Given the description of an element on the screen output the (x, y) to click on. 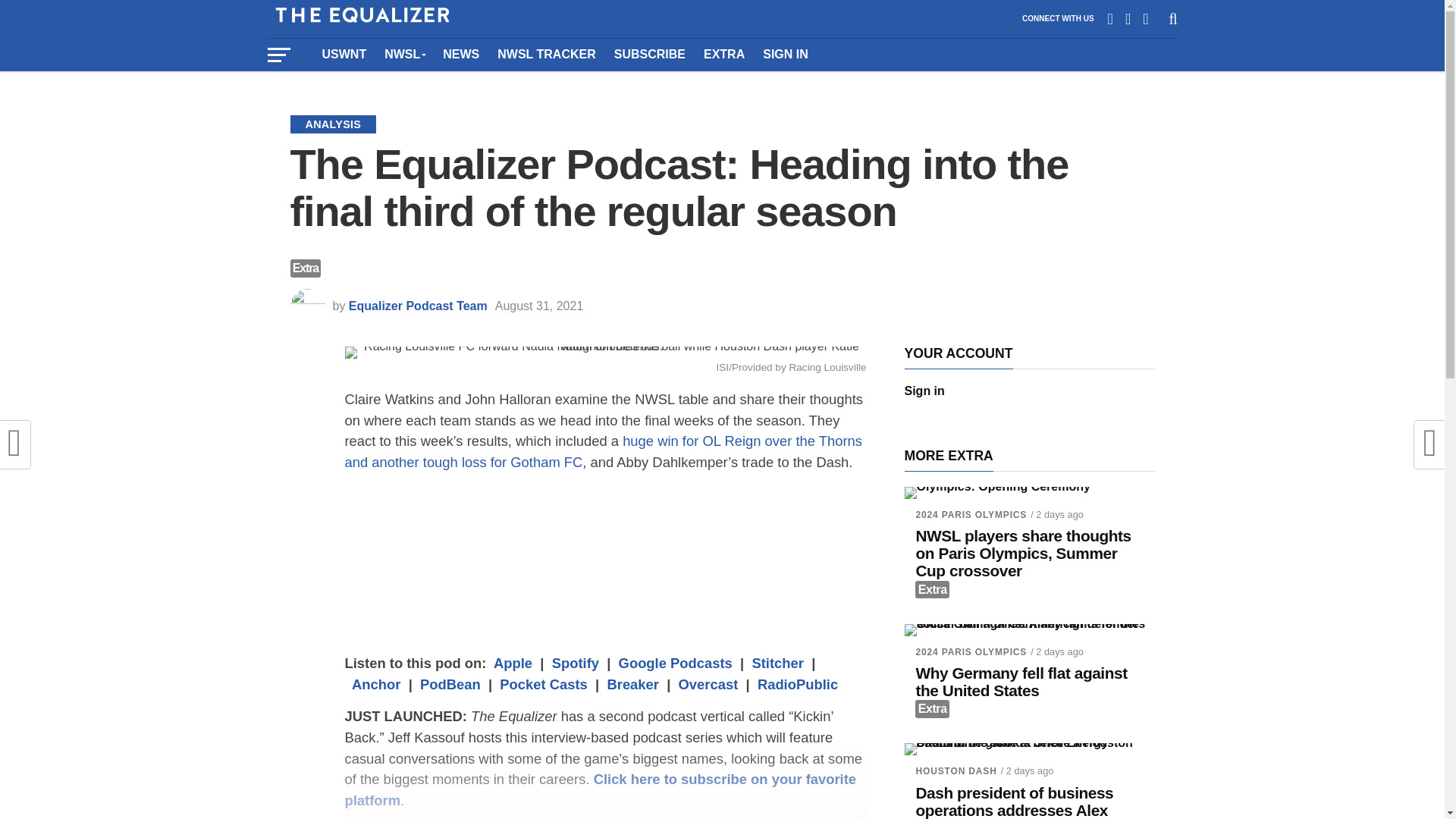
NWSL (404, 54)
Posts by Equalizer Podcast Team (418, 305)
USWNT (344, 54)
